Given the description of an element on the screen output the (x, y) to click on. 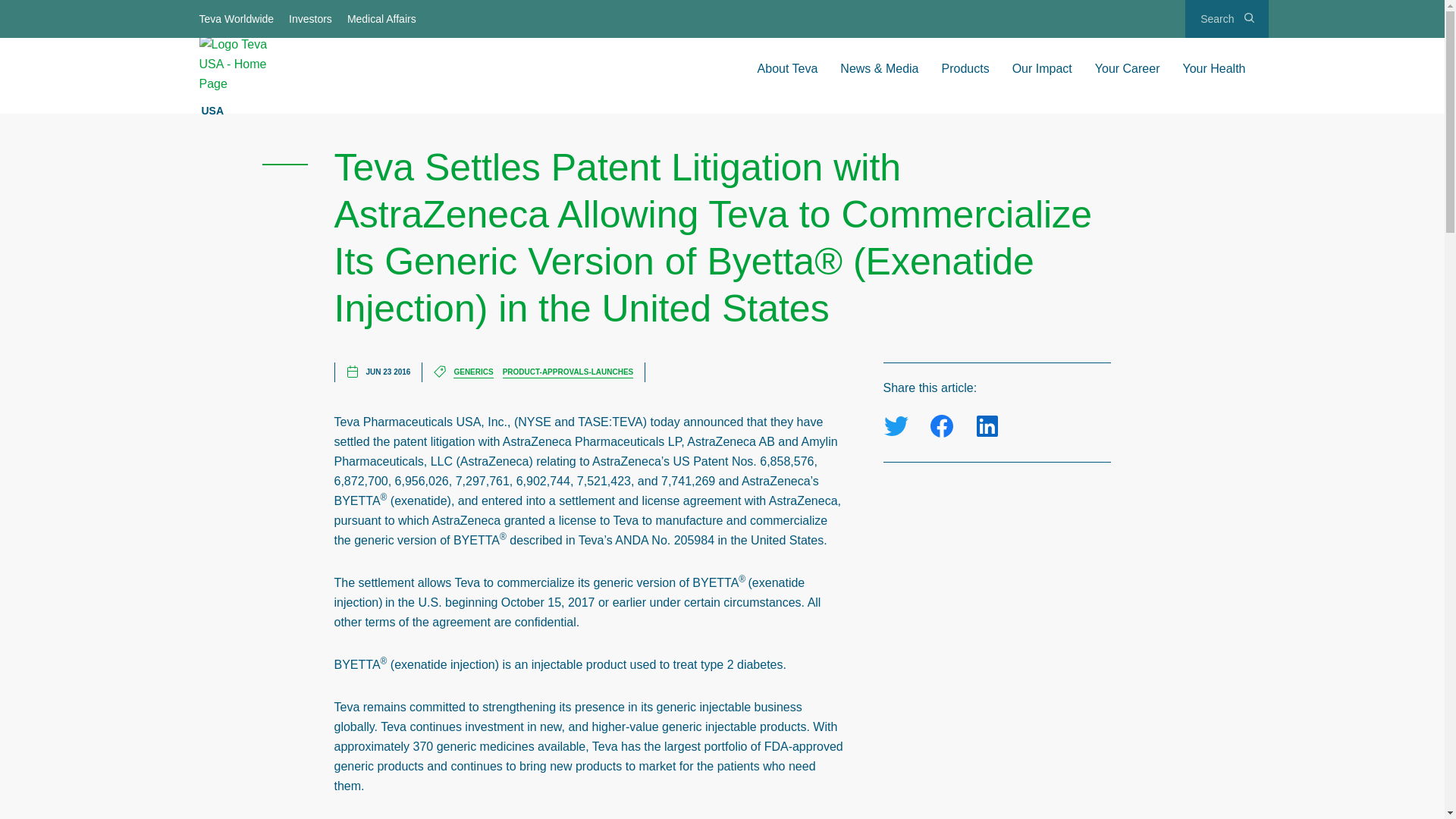
About Teva (787, 68)
Products (965, 68)
Teva USA (236, 64)
Investors (310, 18)
Share on LinkedIn (986, 425)
Medical Affairs (381, 18)
Share on Twitter (895, 425)
Our Impact (1042, 68)
Search (1226, 18)
Teva Worldwide (236, 18)
Share on Facebook (940, 425)
